Given the description of an element on the screen output the (x, y) to click on. 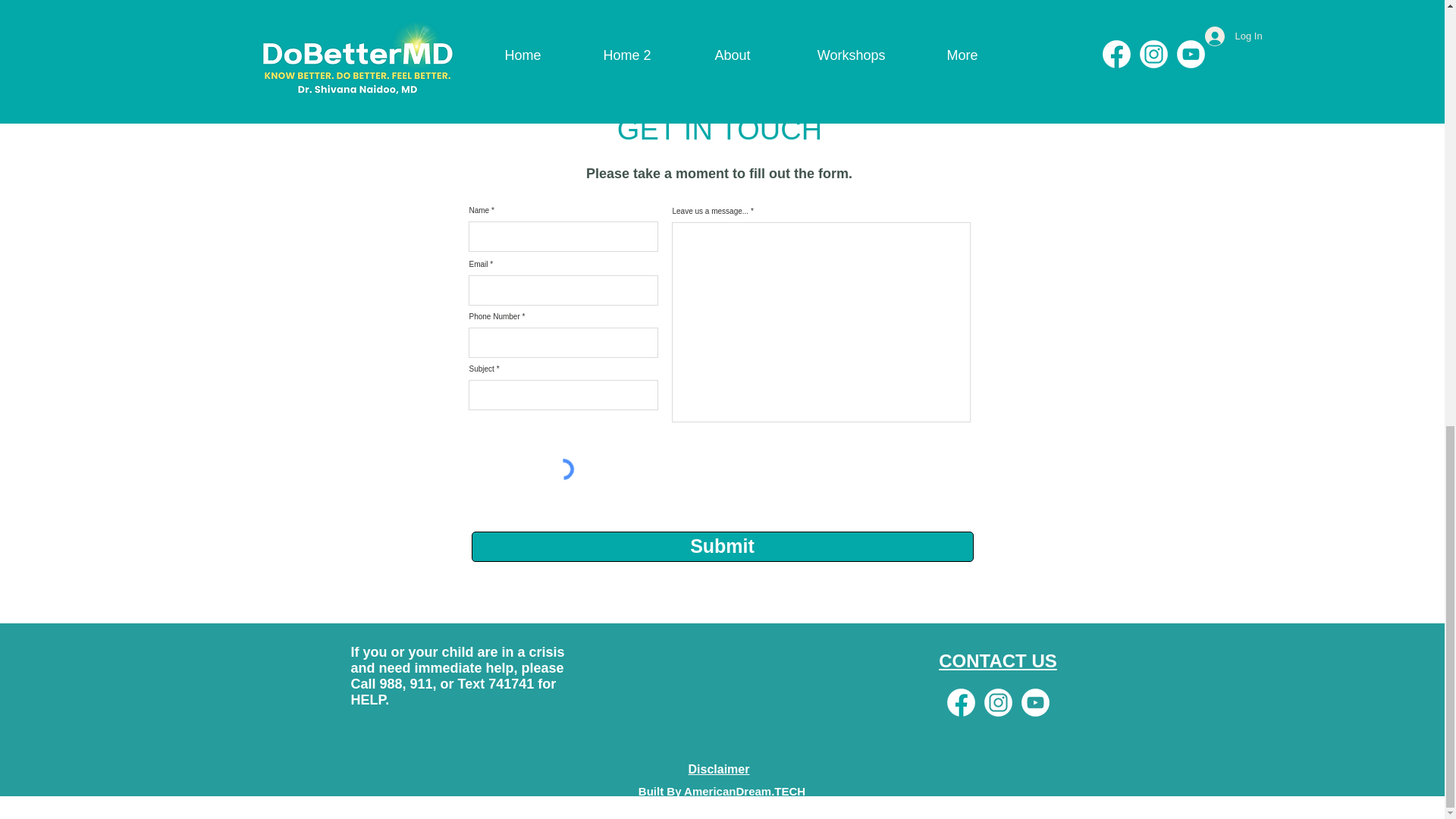
Submit (722, 546)
Disclaimer (718, 768)
CONTACT US (998, 660)
